Given the description of an element on the screen output the (x, y) to click on. 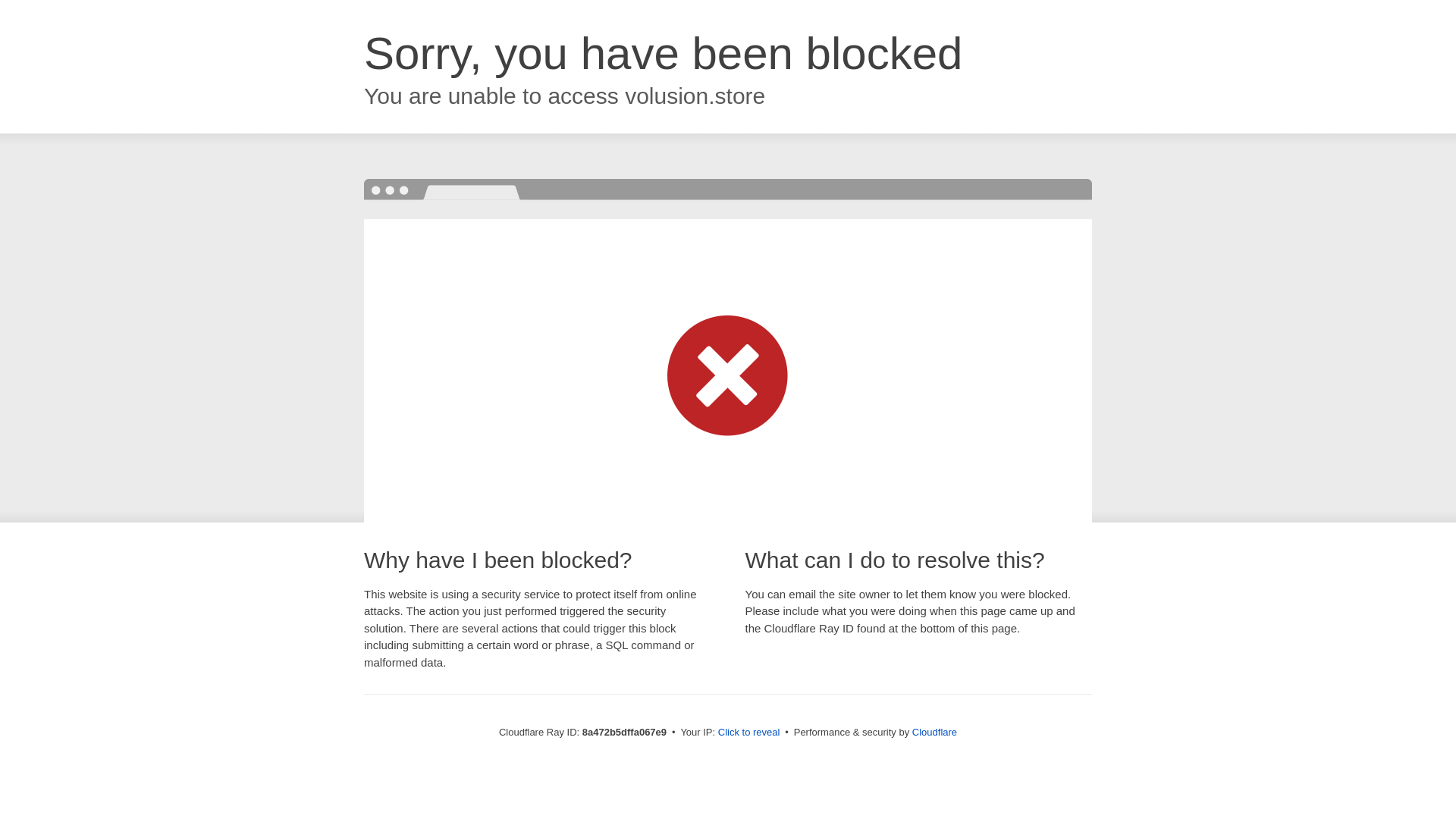
Click to reveal (748, 732)
Cloudflare (934, 731)
